Given the description of an element on the screen output the (x, y) to click on. 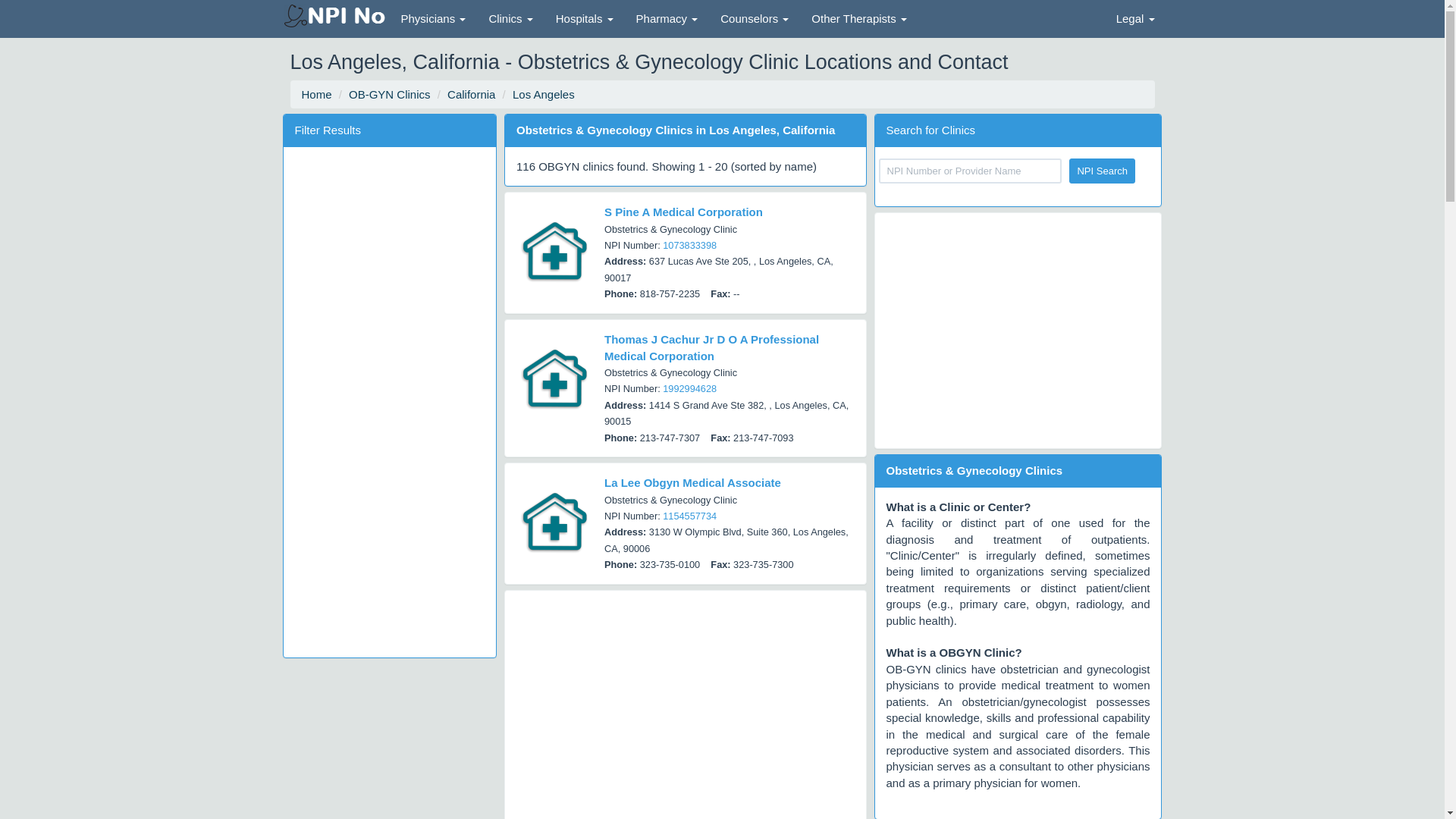
Advertisement (1017, 330)
Counselors (754, 18)
Advertisement (685, 707)
Physicians (433, 18)
Other Therapists (858, 18)
Pharmacy (667, 18)
Hospitals (584, 18)
Clinics (510, 18)
